Given the description of an element on the screen output the (x, y) to click on. 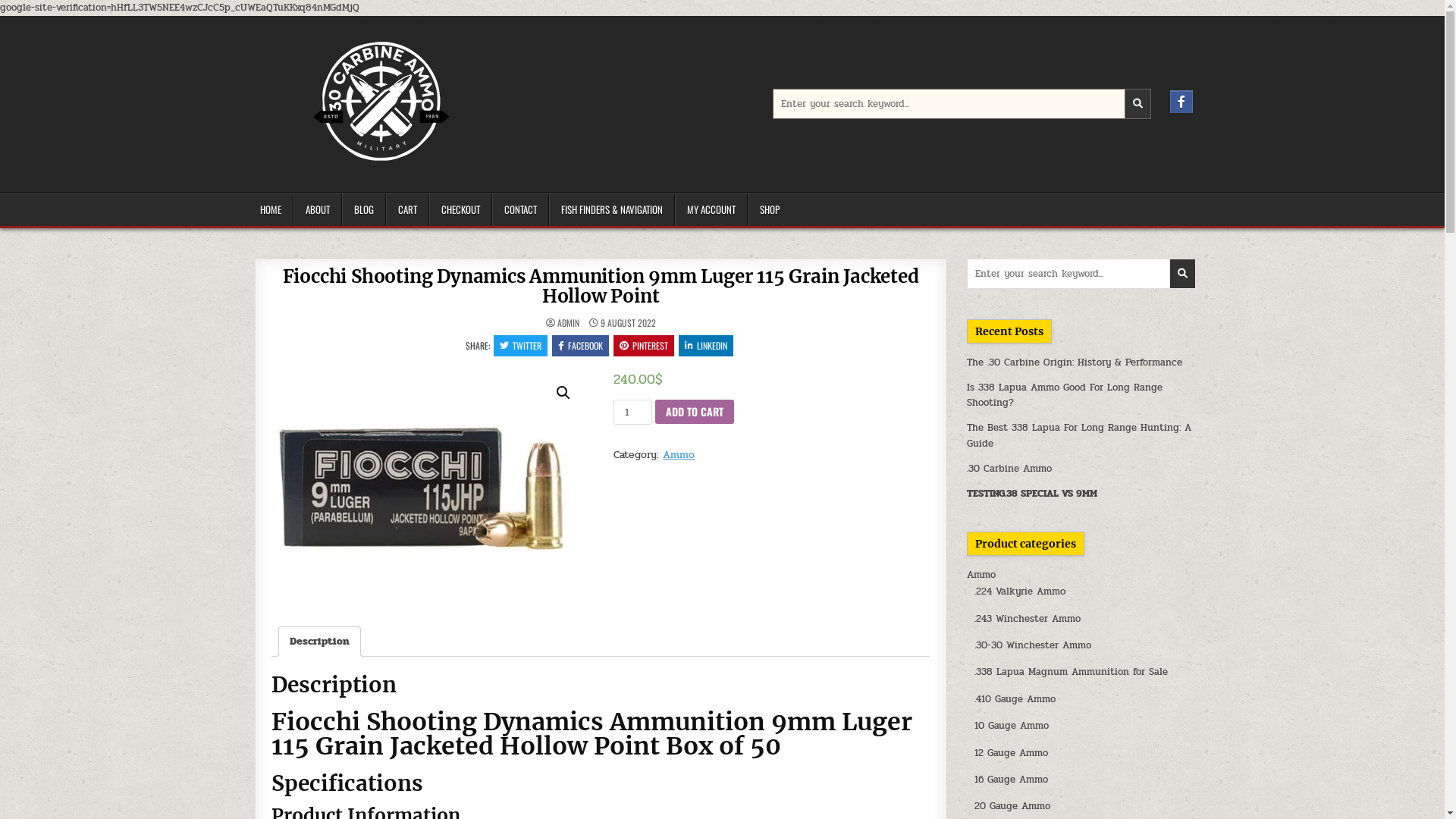
CART Element type: text (406, 209)
FISH FINDERS & NAVIGATION Element type: text (611, 209)
The .30 Carbine Origin: History & Performance Element type: text (1074, 362)
16 Gauge Ammo Element type: text (1011, 779)
ABOUT Element type: text (316, 209)
CONTACT Element type: text (519, 209)
10 Gauge Ammo Element type: text (1011, 725)
30 Carbine Ammo Shop Element type: text (337, 183)
FACEBOOK Element type: text (580, 345)
.243 Winchester Ammo Element type: text (1027, 618)
.224 Valkyrie Ammo Element type: text (1019, 591)
.338 Lapua Magnum Ammunition for Sale Element type: text (1070, 671)
.30 Carbine Ammo Element type: text (1008, 468)
ADD TO CART Element type: text (694, 411)
TESTING.38 SPECIAL VS 9MM  Element type: text (1033, 493)
Ammo Element type: text (678, 454)
20 Gauge Ammo Element type: text (1012, 805)
TWITTER Element type: text (520, 345)
.410 Gauge Ammo Element type: text (1014, 698)
Facebook Element type: hover (1180, 101)
.30-30 Winchester Ammo Element type: text (1032, 644)
BLOG Element type: text (363, 209)
fiocchi shooting dynamics 9mm 115gr jhp Element type: hover (429, 486)
The Best 338 Lapua For Long Range Hunting: A Guide Element type: text (1078, 435)
ADMIN Element type: text (568, 322)
SHOP Element type: text (768, 209)
CHECKOUT Element type: text (460, 209)
Is 338 Lapua Ammo Good For Long Range Shooting? Element type: text (1064, 395)
PINTEREST Element type: text (643, 345)
Description Element type: text (319, 641)
Ammo Element type: text (980, 574)
LINKEDIN Element type: text (705, 345)
Qty Element type: hover (632, 411)
12 Gauge Ammo Element type: text (1011, 752)
MY ACCOUNT Element type: text (710, 209)
HOME Element type: text (270, 209)
